Given the description of an element on the screen output the (x, y) to click on. 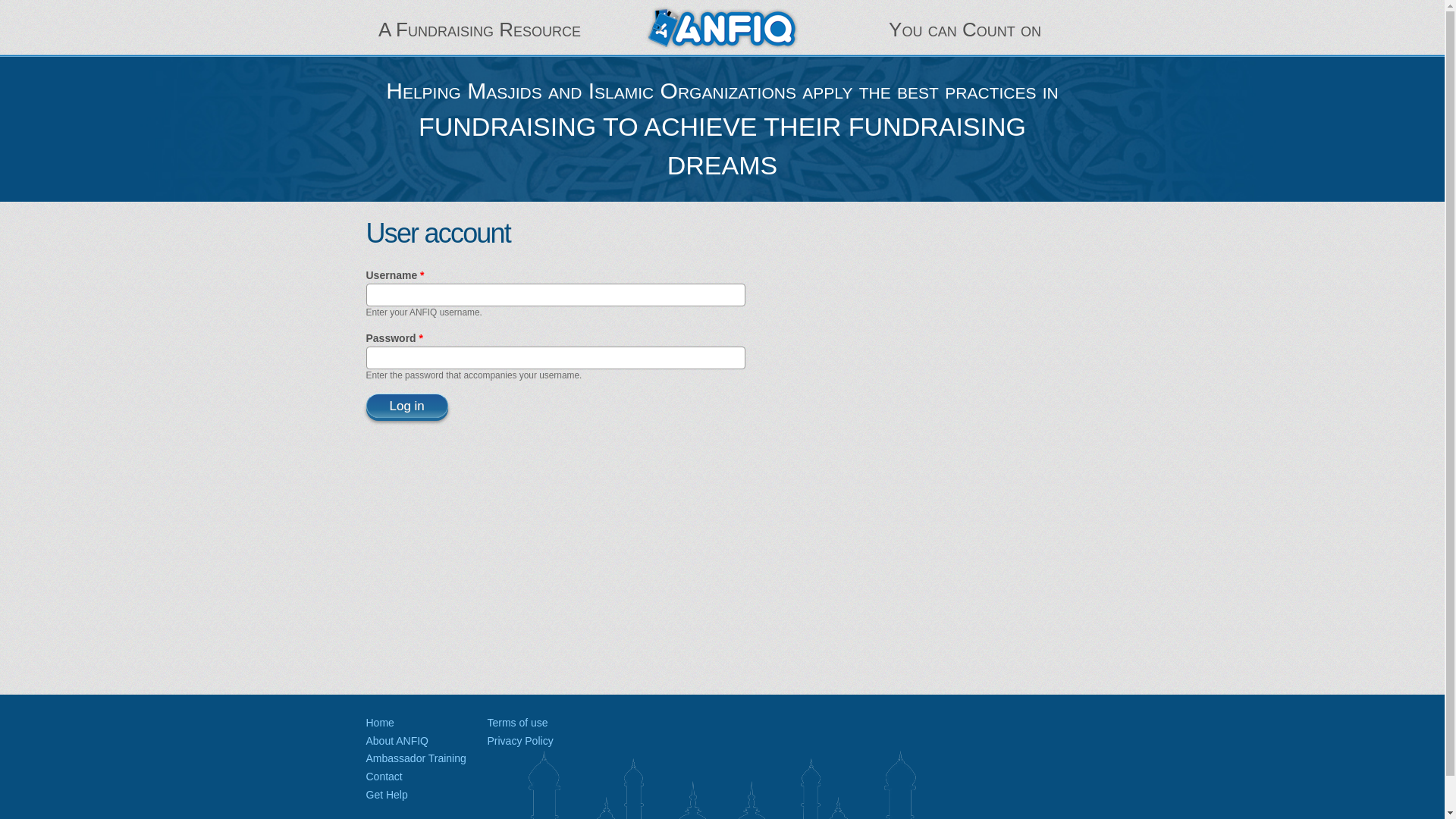
Log in (405, 405)
Ambassador Training (415, 758)
Privacy Policy (519, 740)
Skip to main content (691, 1)
About ANFIQ (396, 740)
Log in (405, 405)
Contact (383, 776)
Terms of use (516, 722)
Home (379, 722)
Get Help (386, 794)
